Given the description of an element on the screen output the (x, y) to click on. 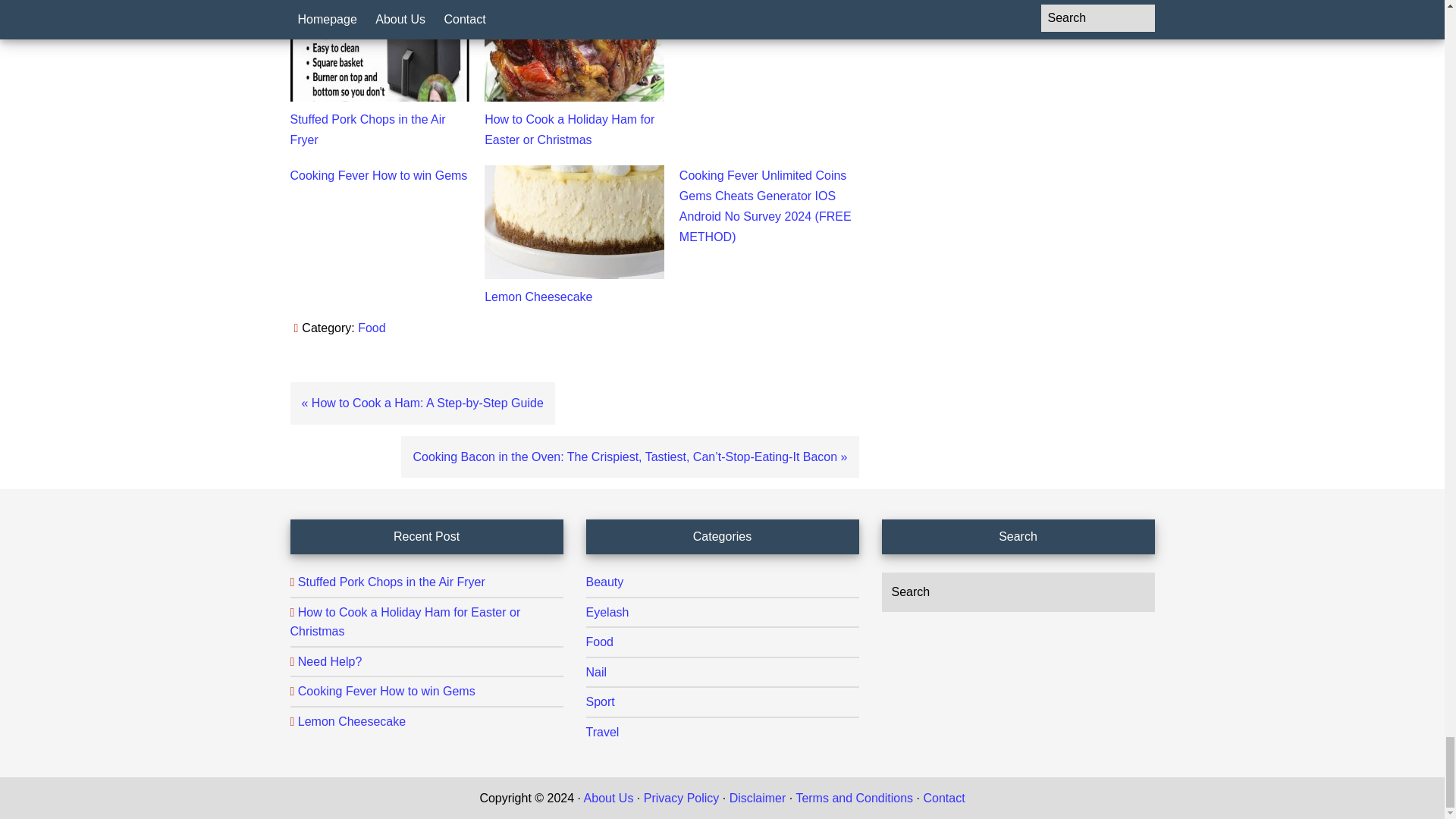
Food (371, 327)
Cooking Fever How to win Gems (378, 174)
Need Help? (711, 2)
Lemon Cheesecake (538, 296)
How to Cook a Holiday Ham for Easter or Christmas (568, 129)
Stuffed Pork Chops in the Air Fryer (367, 129)
